Given the description of an element on the screen output the (x, y) to click on. 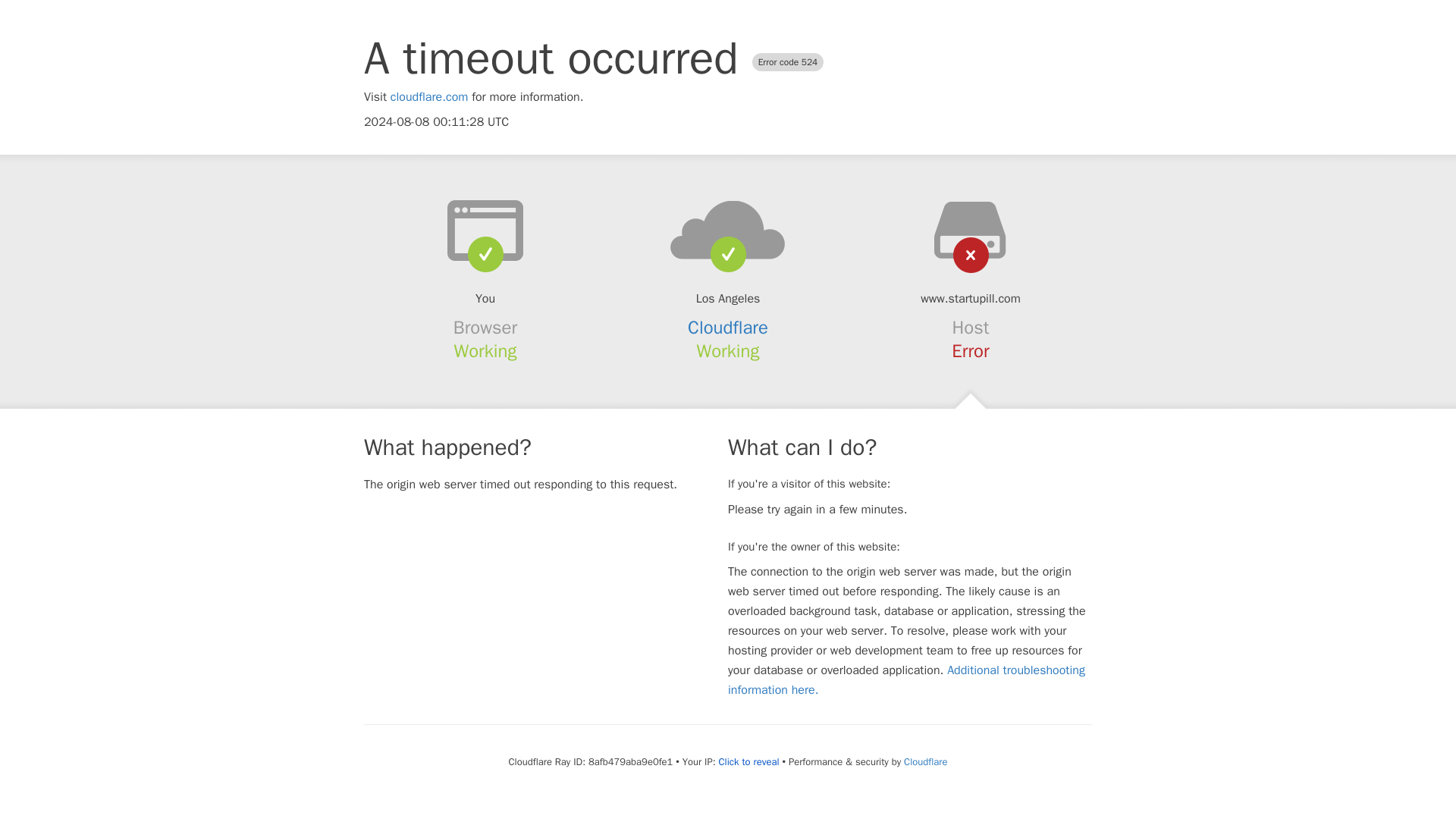
cloudflare.com (429, 96)
Cloudflare (925, 761)
Cloudflare (727, 327)
Additional troubleshooting information here. (906, 679)
Click to reveal (748, 762)
